Given the description of an element on the screen output the (x, y) to click on. 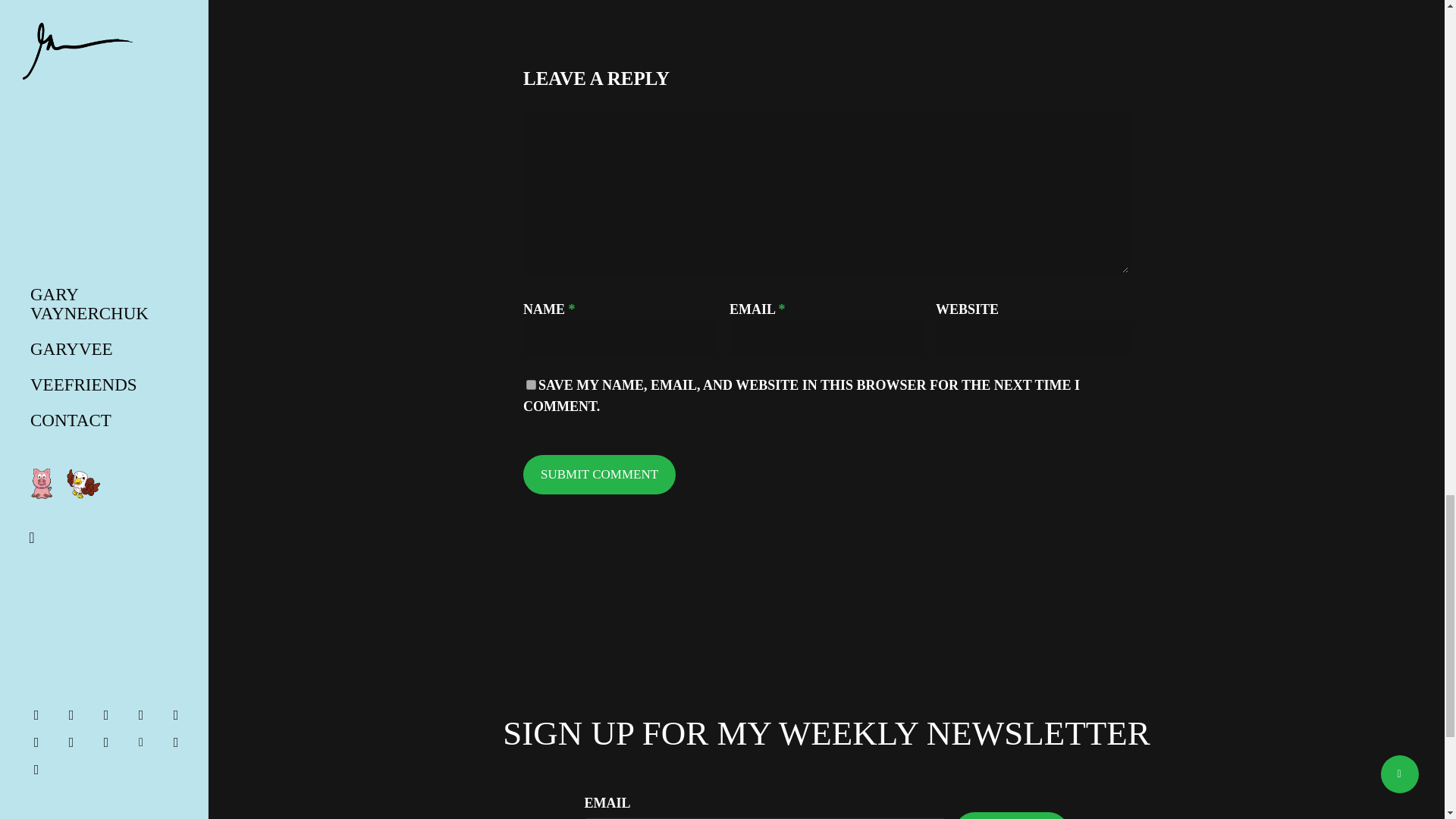
Subscribe (1011, 815)
yes (530, 384)
Submit Comment (598, 474)
